Given the description of an element on the screen output the (x, y) to click on. 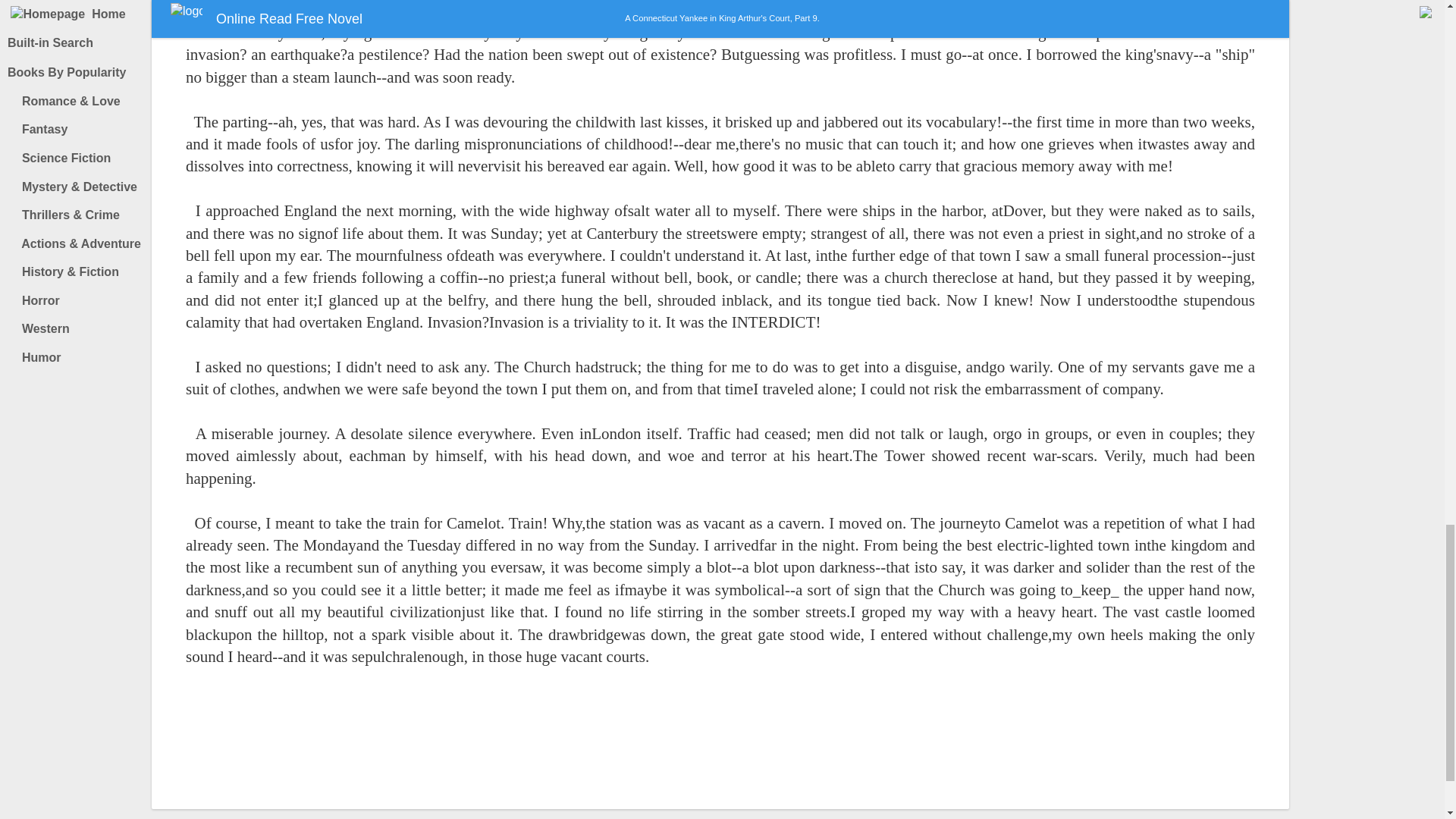
Next Page (751, 745)
Speak Easy (1331, 23)
Speak Easy (1331, 23)
Previous Page (690, 745)
